Given the description of an element on the screen output the (x, y) to click on. 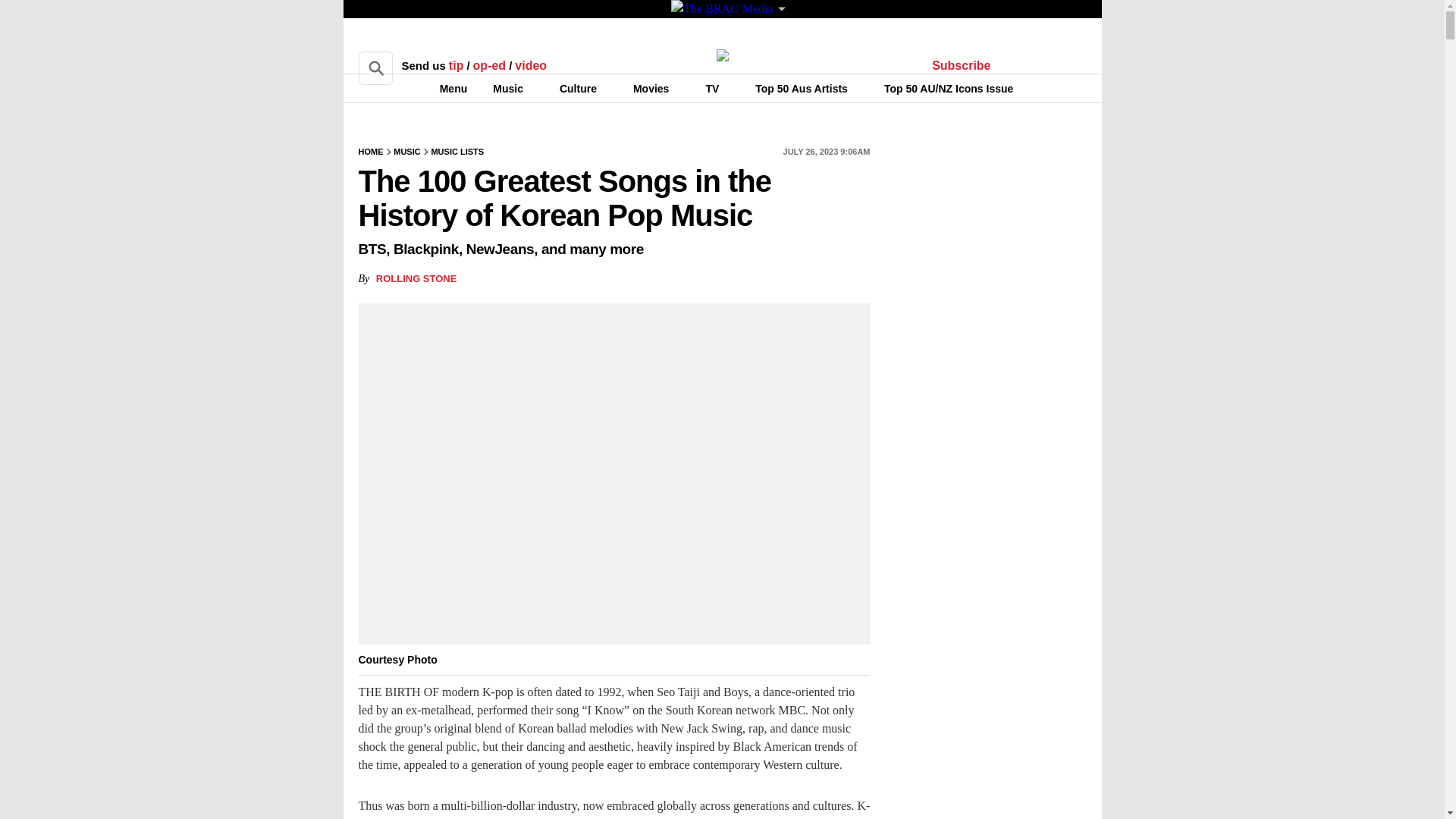
Search (374, 68)
Menu (444, 87)
tip (456, 65)
video (531, 65)
Subscribe (961, 65)
Rolling Stone Australia (722, 54)
op-ed (489, 65)
Search (374, 68)
